Given the description of an element on the screen output the (x, y) to click on. 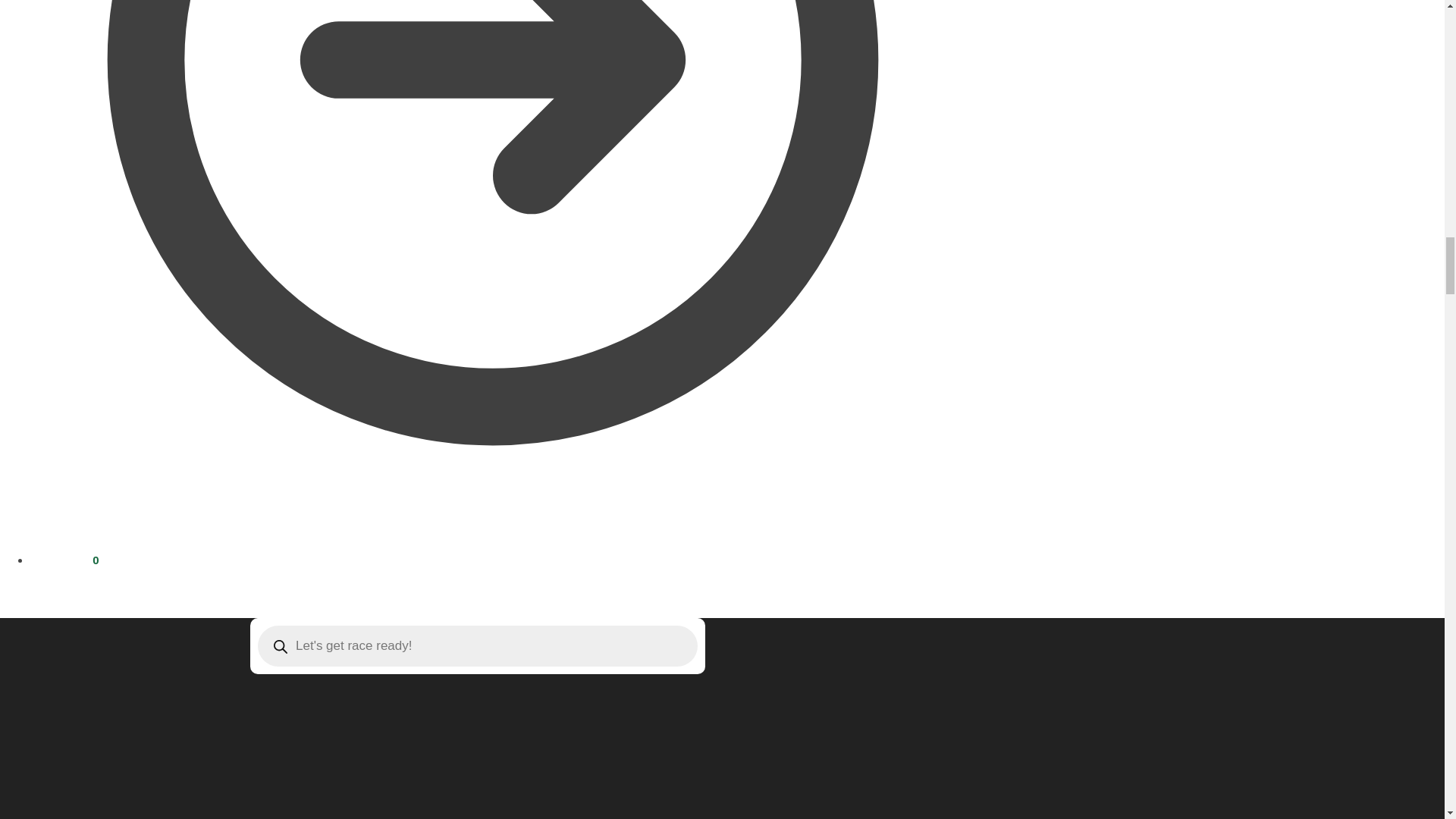
With tax added (45, 559)
View your shopping cart (64, 559)
With tax removed (74, 559)
